Given the description of an element on the screen output the (x, y) to click on. 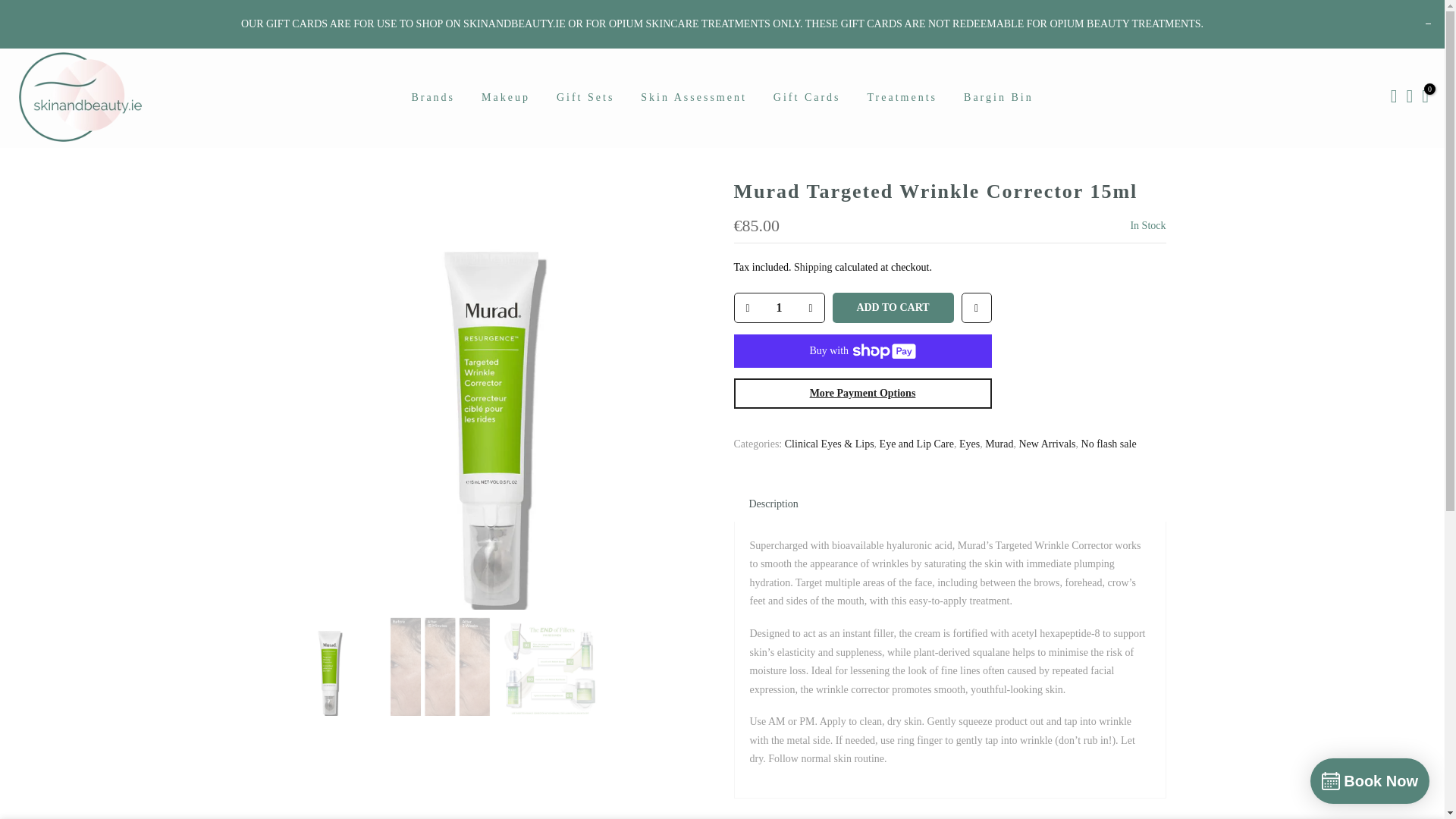
Treatments (901, 97)
Gift Sets (585, 97)
1 (778, 307)
Bargin Bin (998, 97)
ADD TO CART (892, 307)
New Arrivals (1047, 443)
Shipping (812, 266)
Brands (432, 97)
More Payment Options (862, 393)
Skin Assessment (693, 97)
